Given the description of an element on the screen output the (x, y) to click on. 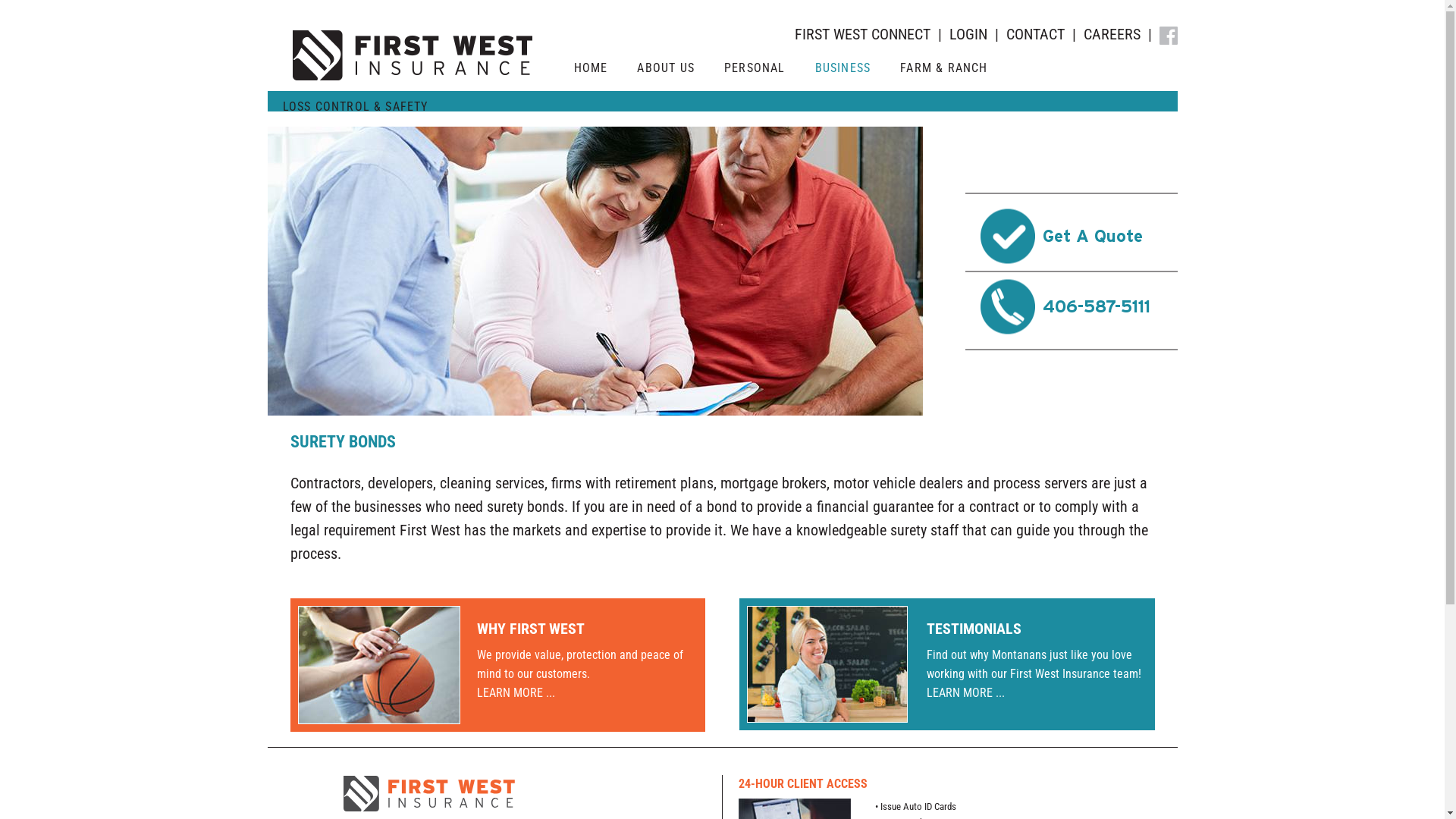
Get A Quote Element type: text (1070, 235)
HOME Element type: text (589, 71)
LEARN MORE Element type: text (959, 692)
FARM & RANCH Element type: text (942, 71)
LEARN MORE Element type: text (509, 692)
Login Element type: text (19, 9)
Home Element type: hover (412, 45)
406-587-5111 Element type: text (1070, 306)
WHY FIRST WEST Element type: text (530, 628)
CONTACT Element type: text (1034, 34)
LOSS CONTROL & SAFETY Element type: text (354, 110)
PERSONAL Element type: text (754, 71)
CAREERS Element type: text (1110, 34)
... Element type: text (548, 692)
LOGIN Element type: text (968, 34)
FIRST WEST CONNECT Element type: text (862, 34)
...  Element type: text (999, 692)
BUSINESS Element type: text (842, 71)
ABOUT US Element type: text (665, 71)
Jump to navigation Element type: text (722, 2)
TESTIMONIALS Element type: text (973, 628)
